Given the description of an element on the screen output the (x, y) to click on. 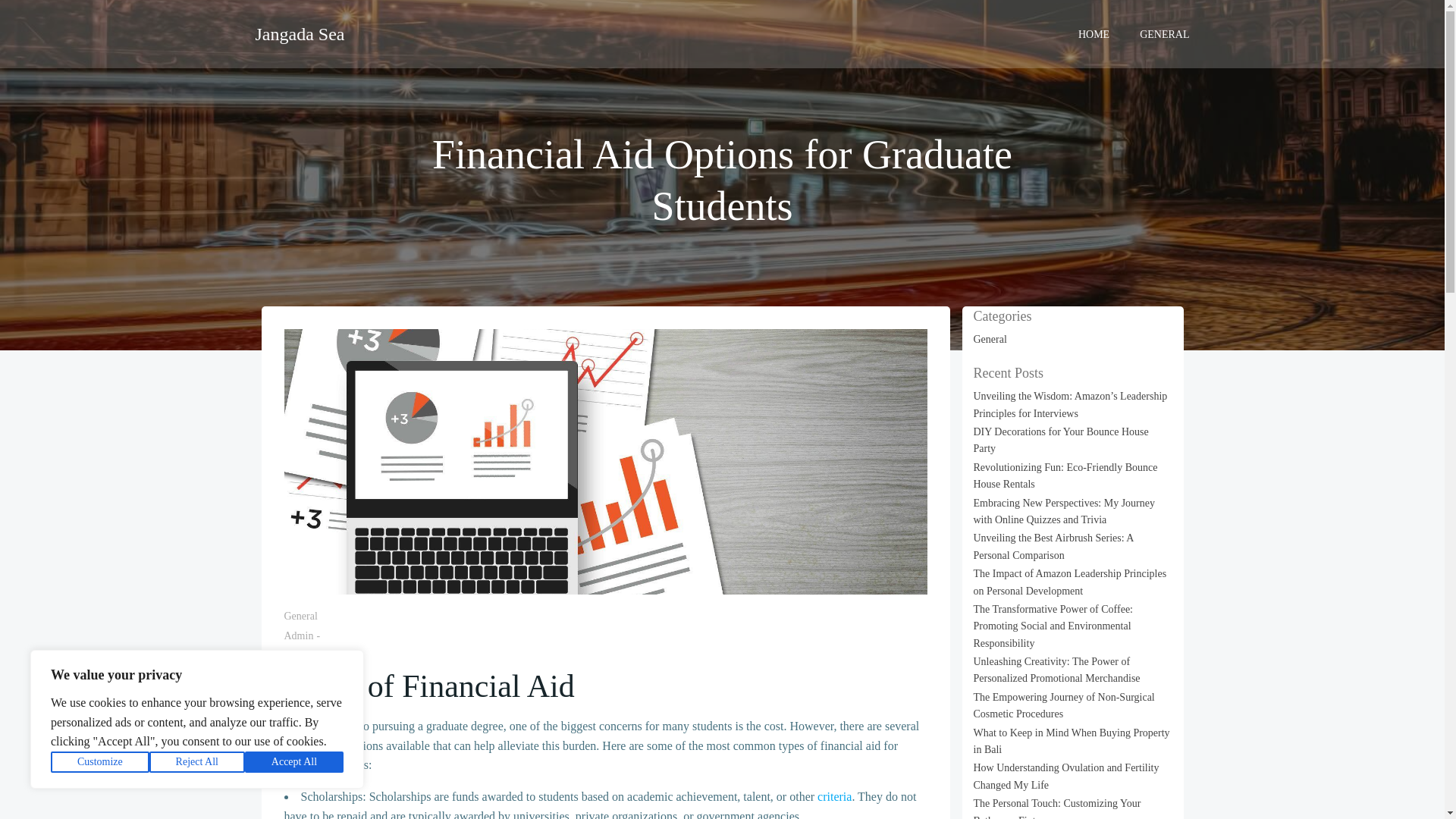
Accept All (293, 762)
Revolutionizing Fun: Eco-Friendly Bounce House Rentals (1065, 475)
HOME (1093, 33)
General (300, 616)
GENERAL (1164, 33)
General (990, 338)
criteria (833, 796)
Admin (298, 635)
Reject All (196, 762)
